Given the description of an element on the screen output the (x, y) to click on. 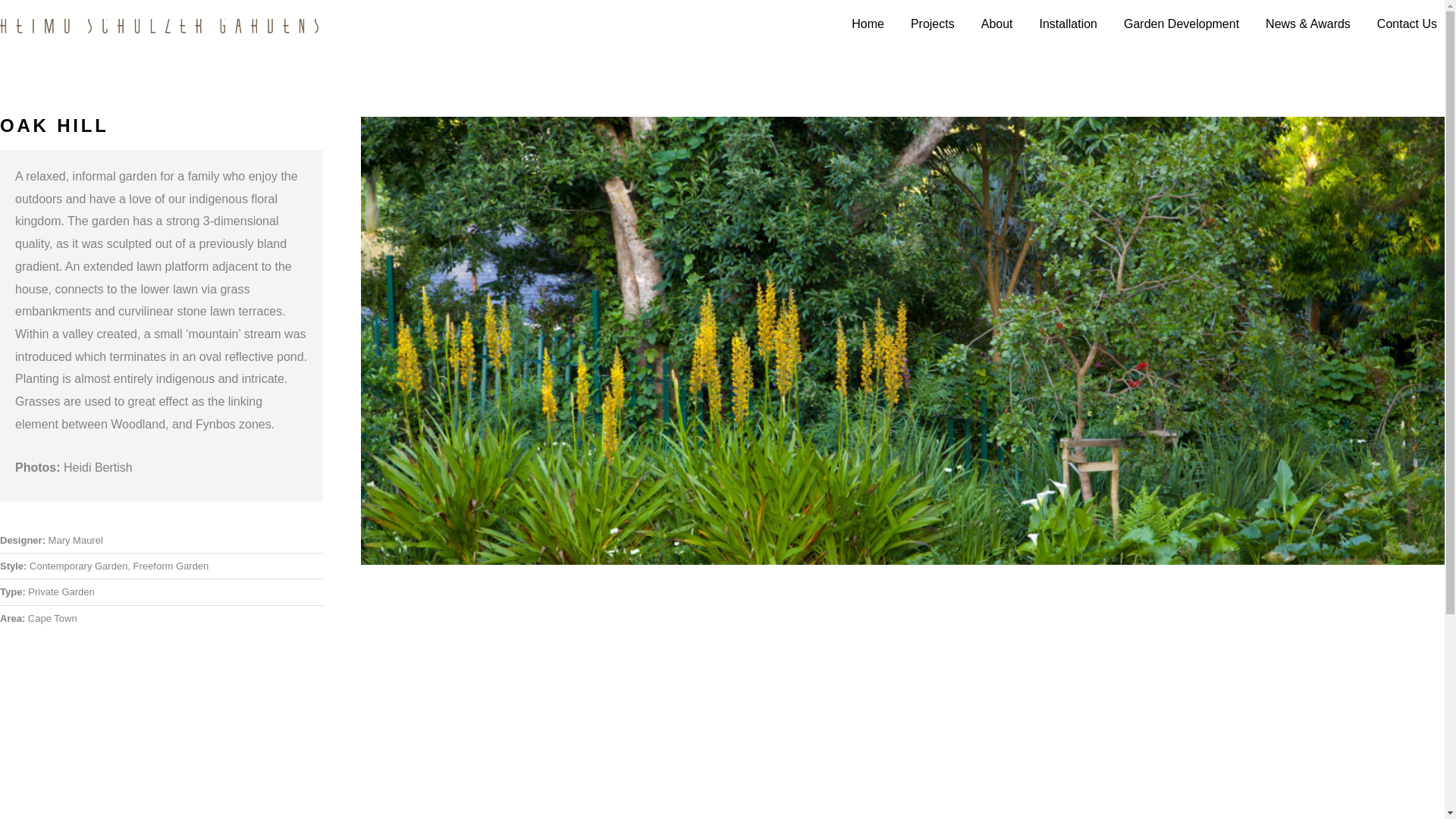
Installation (1062, 24)
About (991, 24)
Home (861, 24)
Projects (926, 24)
Garden Development (1175, 24)
